Given the description of an element on the screen output the (x, y) to click on. 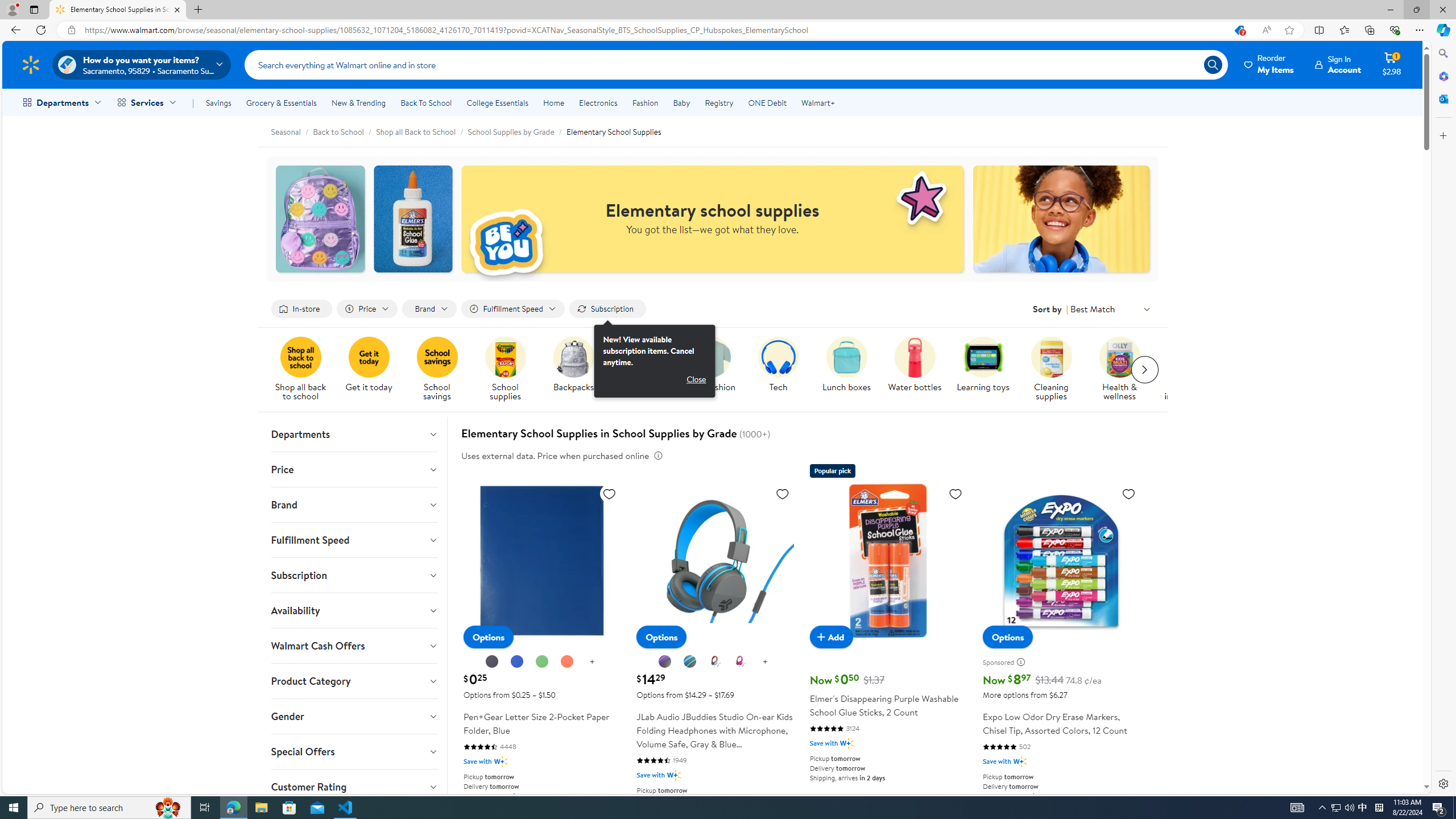
Fulfillment Speed (354, 539)
Price (354, 469)
A musical instrument is on display. Musical instruments (1187, 369)
ONE Debit (767, 102)
Search icon (1212, 64)
Walmart+ (817, 102)
Cart contains 1 item Total Amount $2.98 (1391, 64)
Fashion (644, 102)
Electronics (598, 102)
Brand (354, 504)
